Given the description of an element on the screen output the (x, y) to click on. 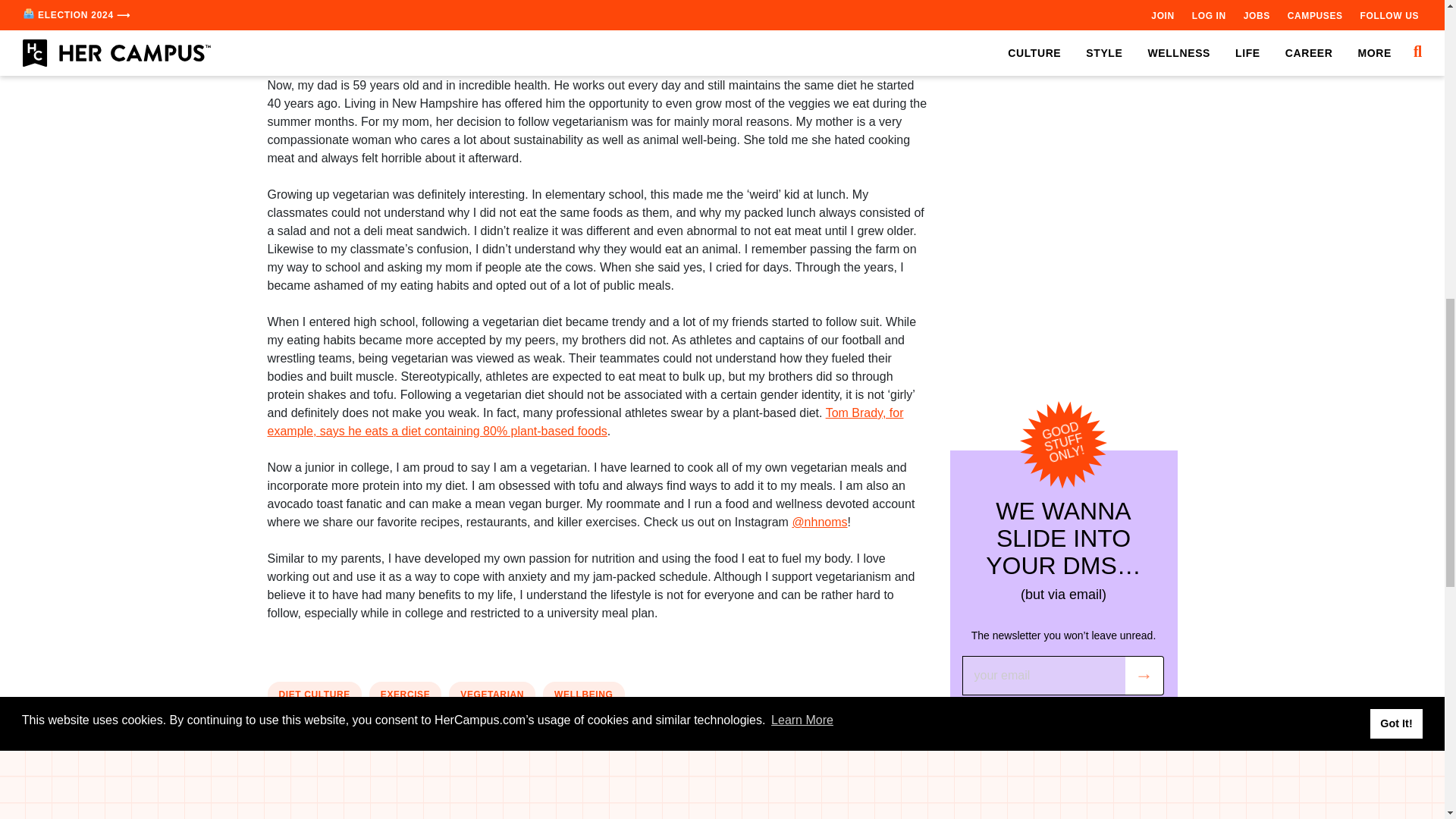
3rd party ad content (597, 762)
3rd party ad content (597, 29)
3rd party ad content (1062, 105)
